Given the description of an element on the screen output the (x, y) to click on. 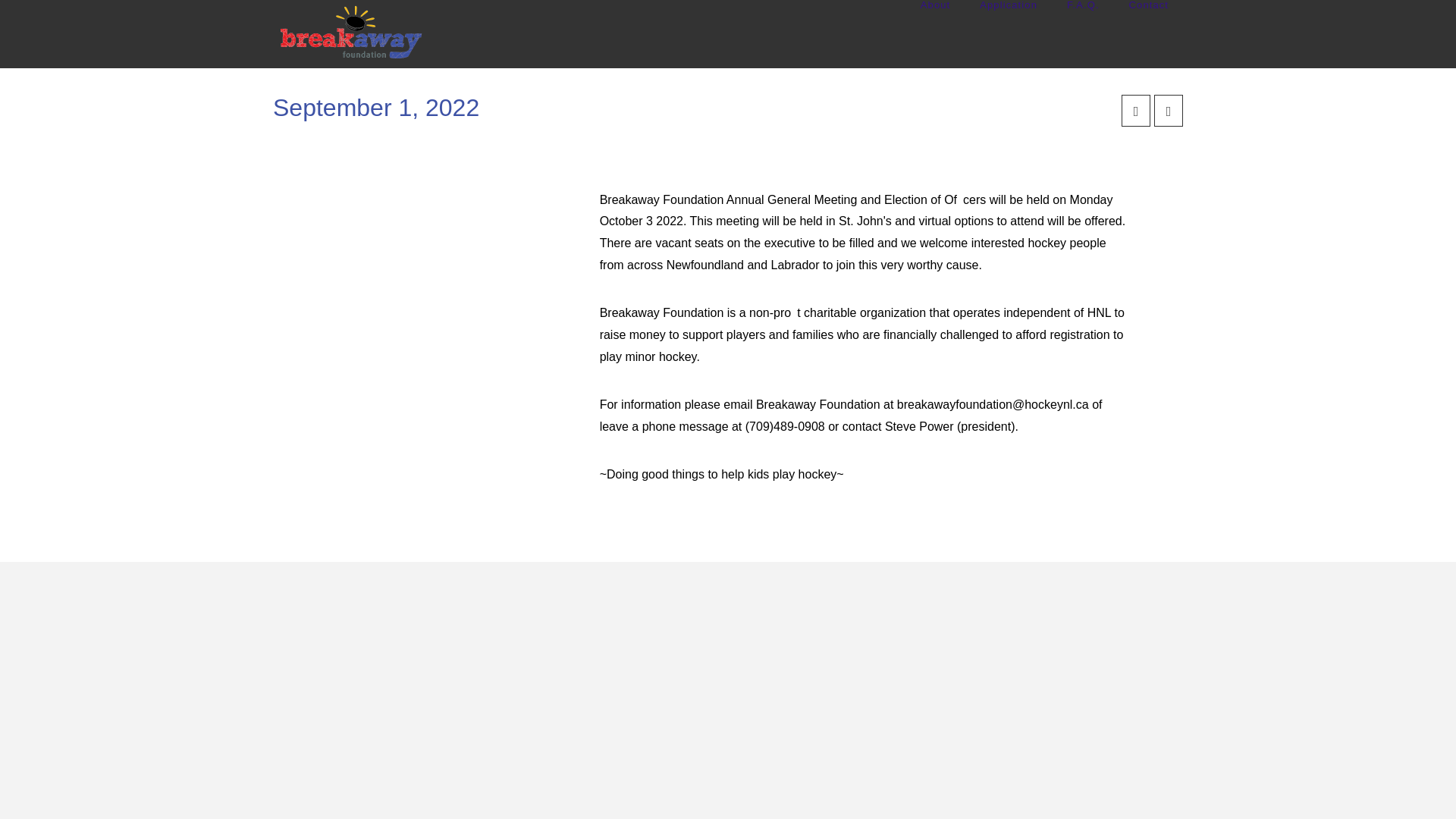
Contact (1147, 33)
F.A.Q. (1082, 33)
Application (1007, 33)
